Given the description of an element on the screen output the (x, y) to click on. 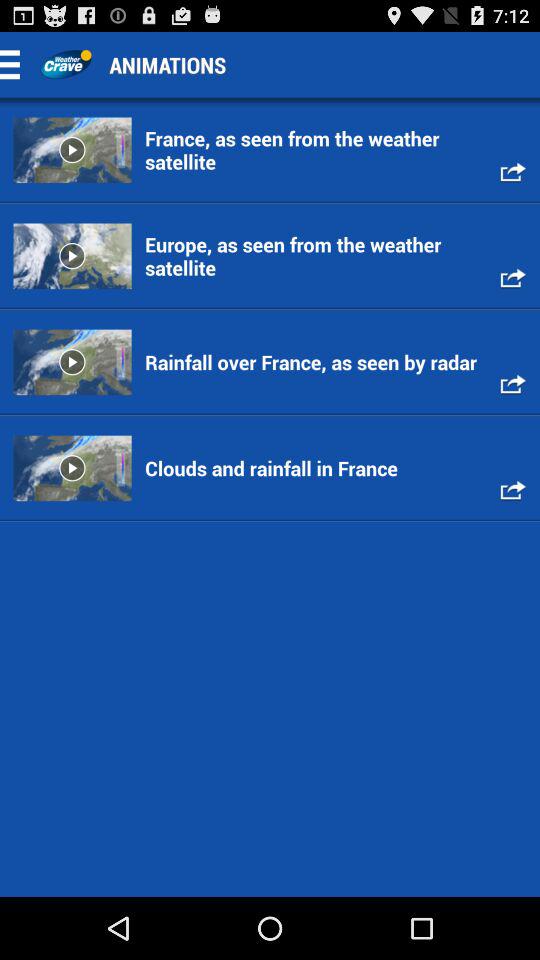
drop down menu (16, 63)
